Given the description of an element on the screen output the (x, y) to click on. 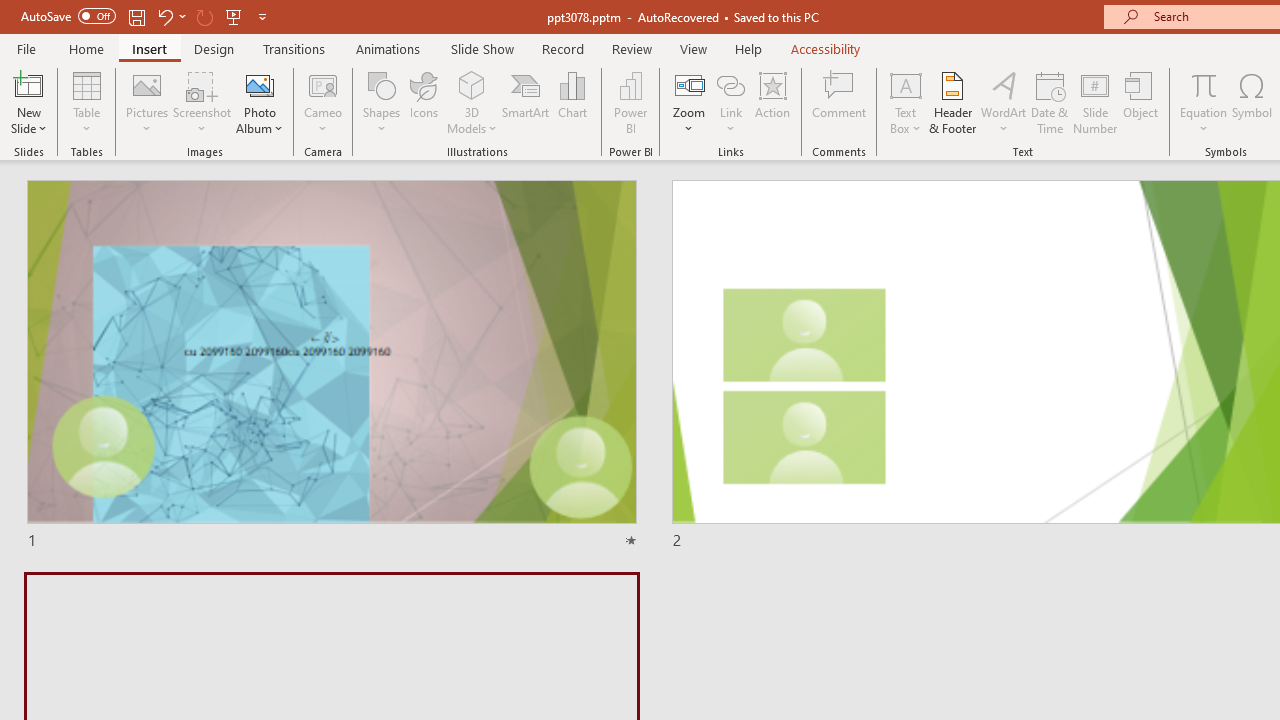
Header & Footer... (952, 102)
Power BI (630, 102)
File Tab (26, 48)
Pictures (147, 102)
Icons (424, 102)
Equation (1203, 84)
Animations (388, 48)
Chart... (572, 102)
Equation (1203, 102)
Comment (839, 102)
Customize Quick Access Toolbar (262, 15)
Save (136, 15)
